Given the description of an element on the screen output the (x, y) to click on. 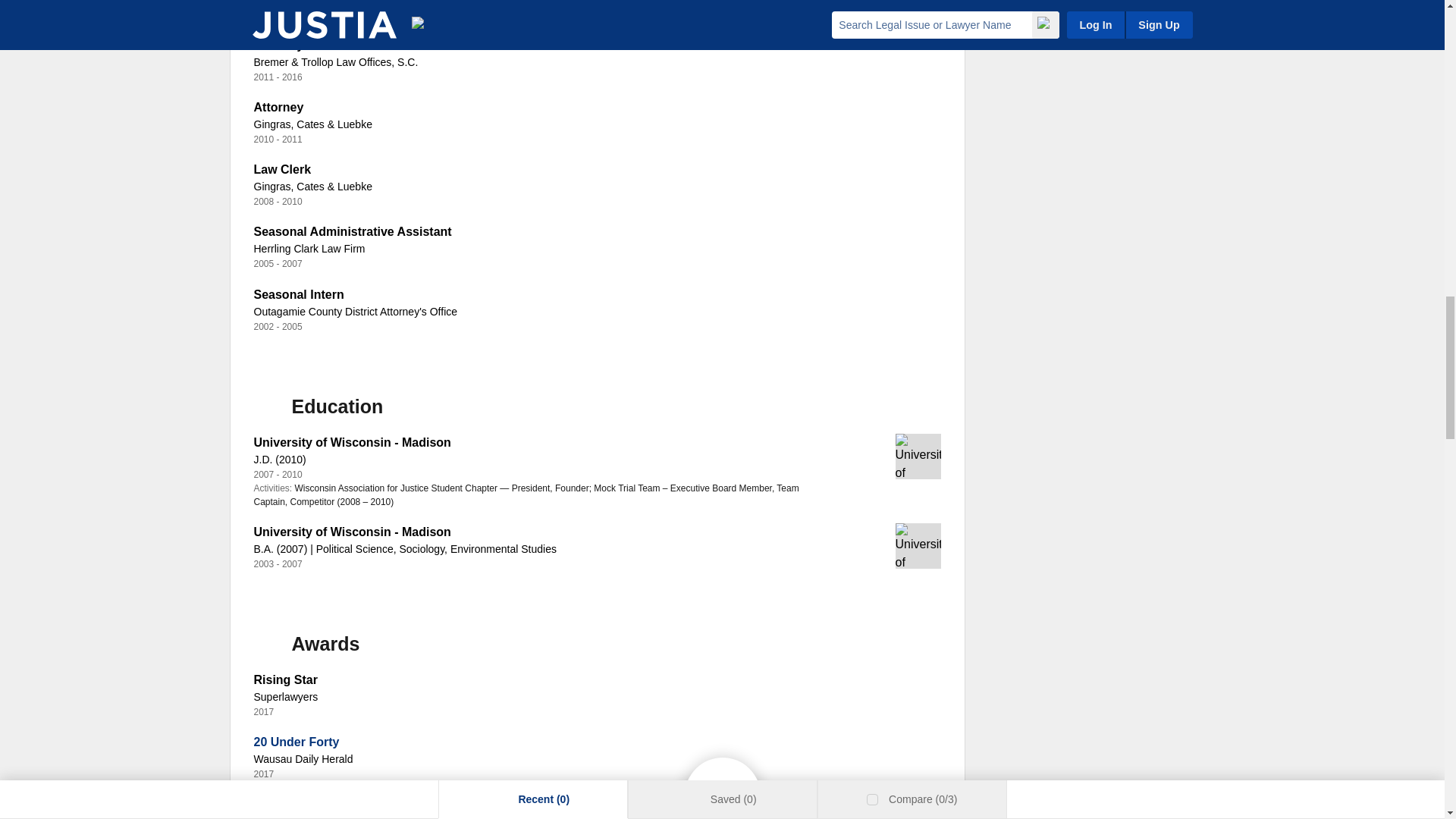
20 Under Forty (296, 741)
